Given the description of an element on the screen output the (x, y) to click on. 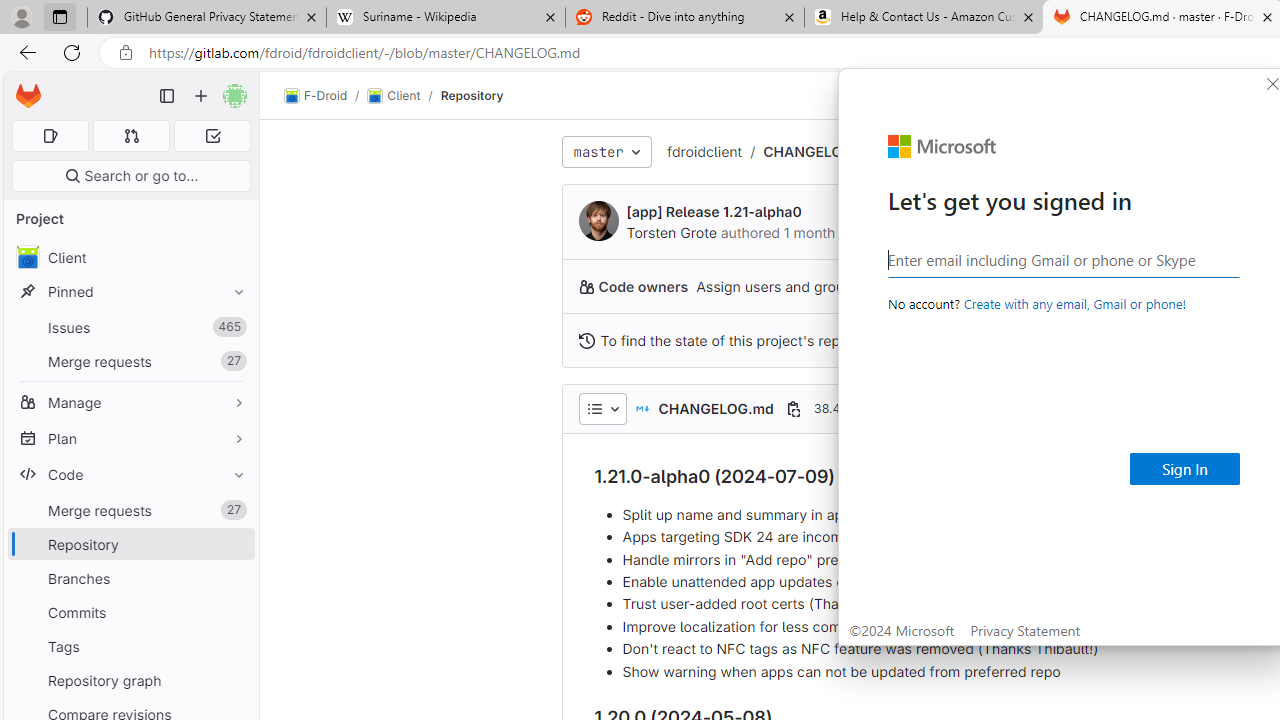
Privacy Statement (1025, 630)
Sign In (1185, 468)
Unpin Issues (234, 327)
Unpin Merge requests (234, 510)
Repository (472, 95)
Pin Repository graph (234, 680)
Client/ (404, 96)
Manage (130, 402)
master (605, 151)
AutomationID: dropdown-toggle-btn-50 (602, 408)
Issues 465 (130, 327)
Microsoft Icon (941, 147)
Torsten Grote's avatar (598, 220)
Suriname - Wikipedia (445, 17)
